Given the description of an element on the screen output the (x, y) to click on. 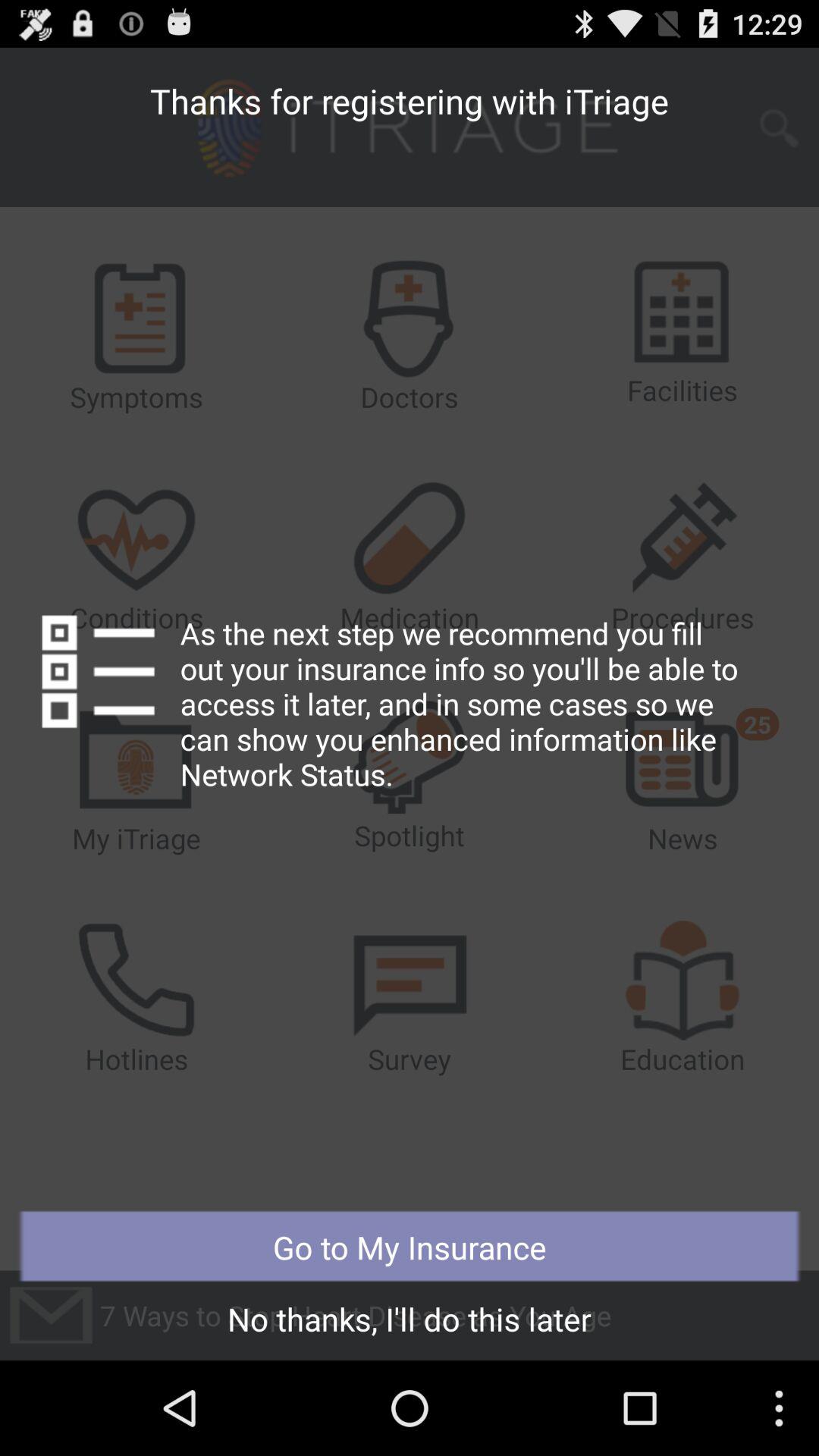
jump to the no thanks i item (409, 1323)
